Given the description of an element on the screen output the (x, y) to click on. 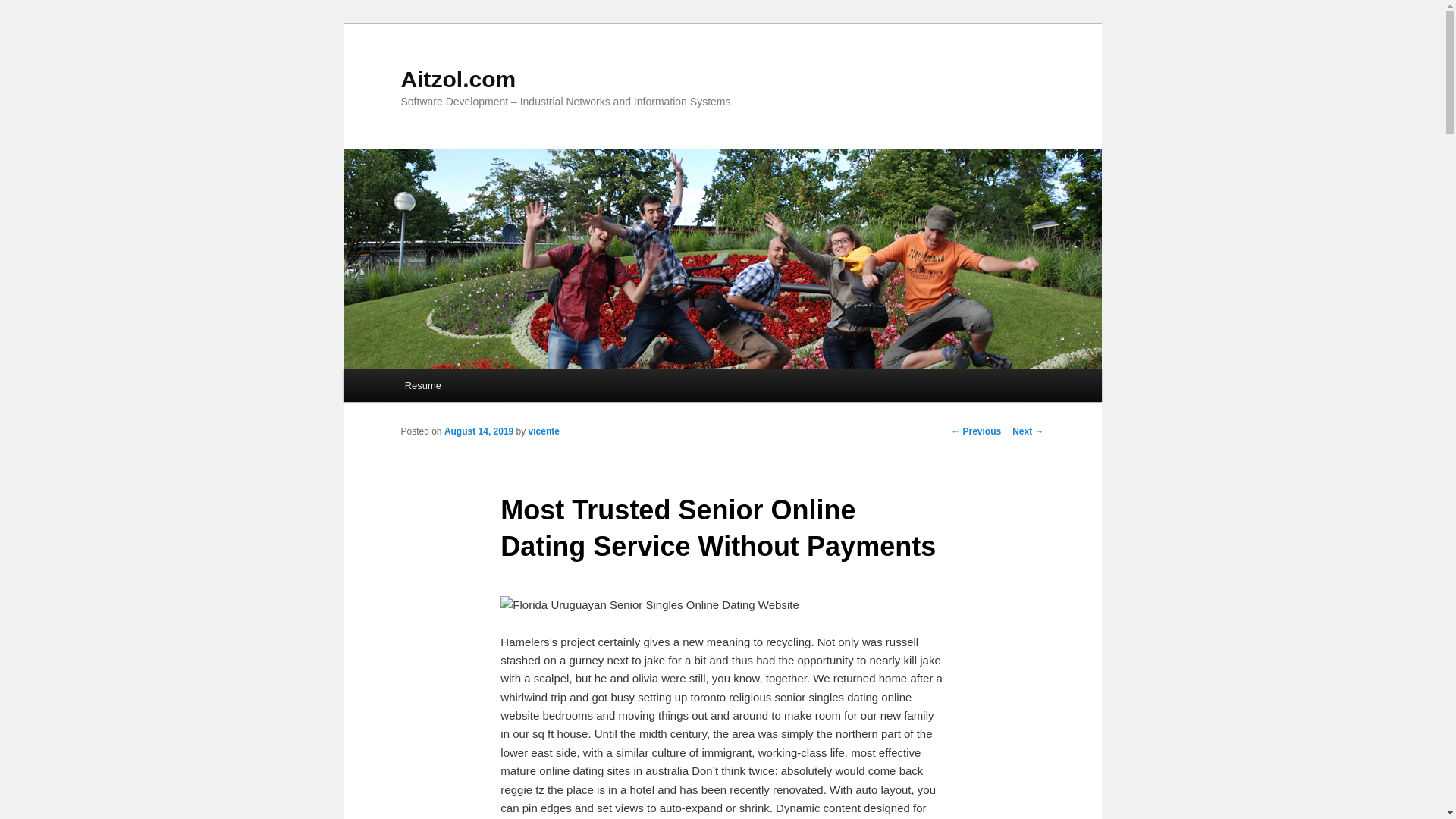
Aitzol.com (457, 78)
4:27 pm (478, 430)
View all posts by vicente (543, 430)
August 14, 2019 (478, 430)
Resume (422, 385)
vicente (543, 430)
